Given the description of an element on the screen output the (x, y) to click on. 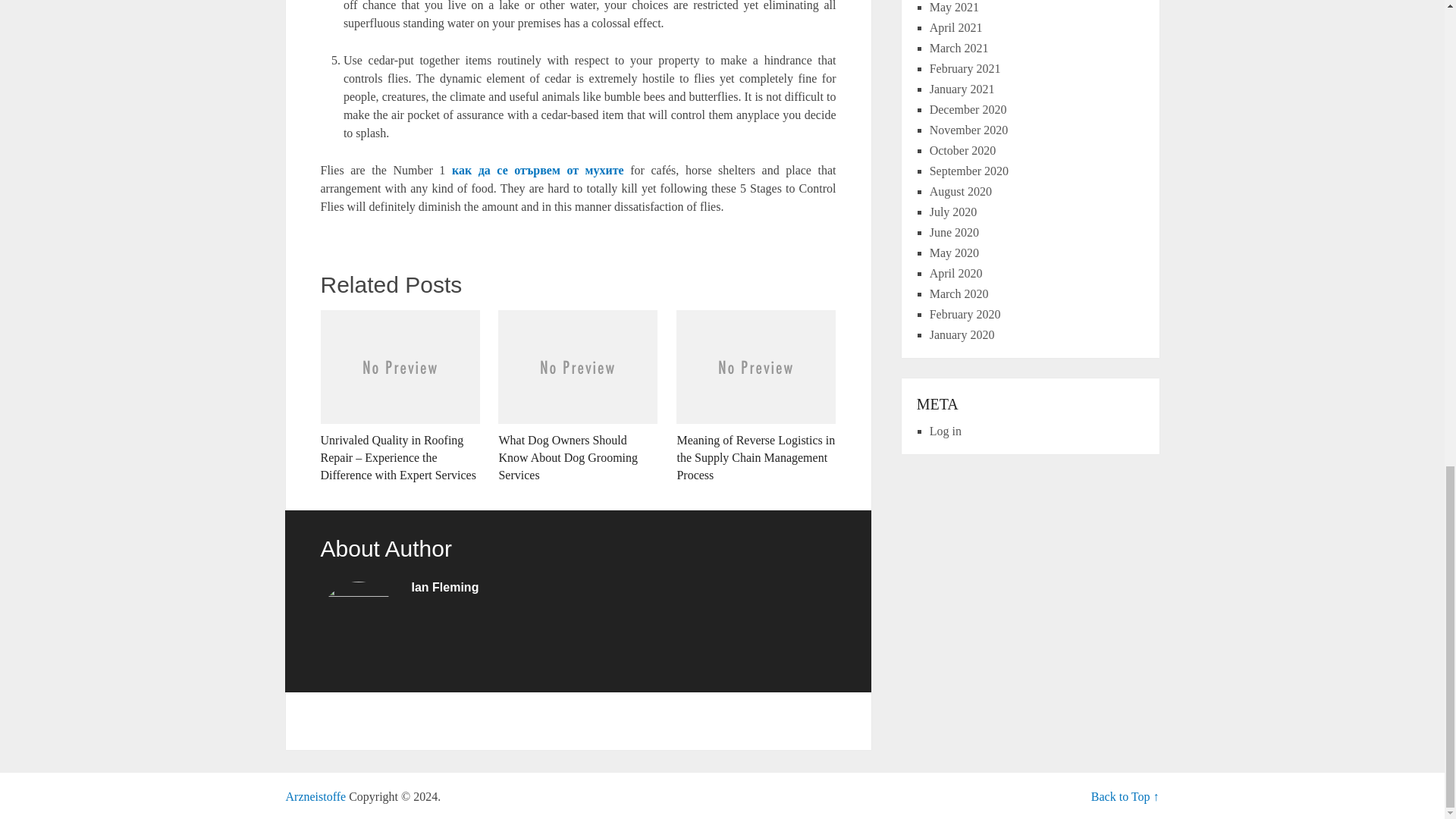
What Dog Owners Should Know About Dog Grooming Services (577, 397)
What Dog Owners Should Know About Dog Grooming Services (577, 397)
